Given the description of an element on the screen output the (x, y) to click on. 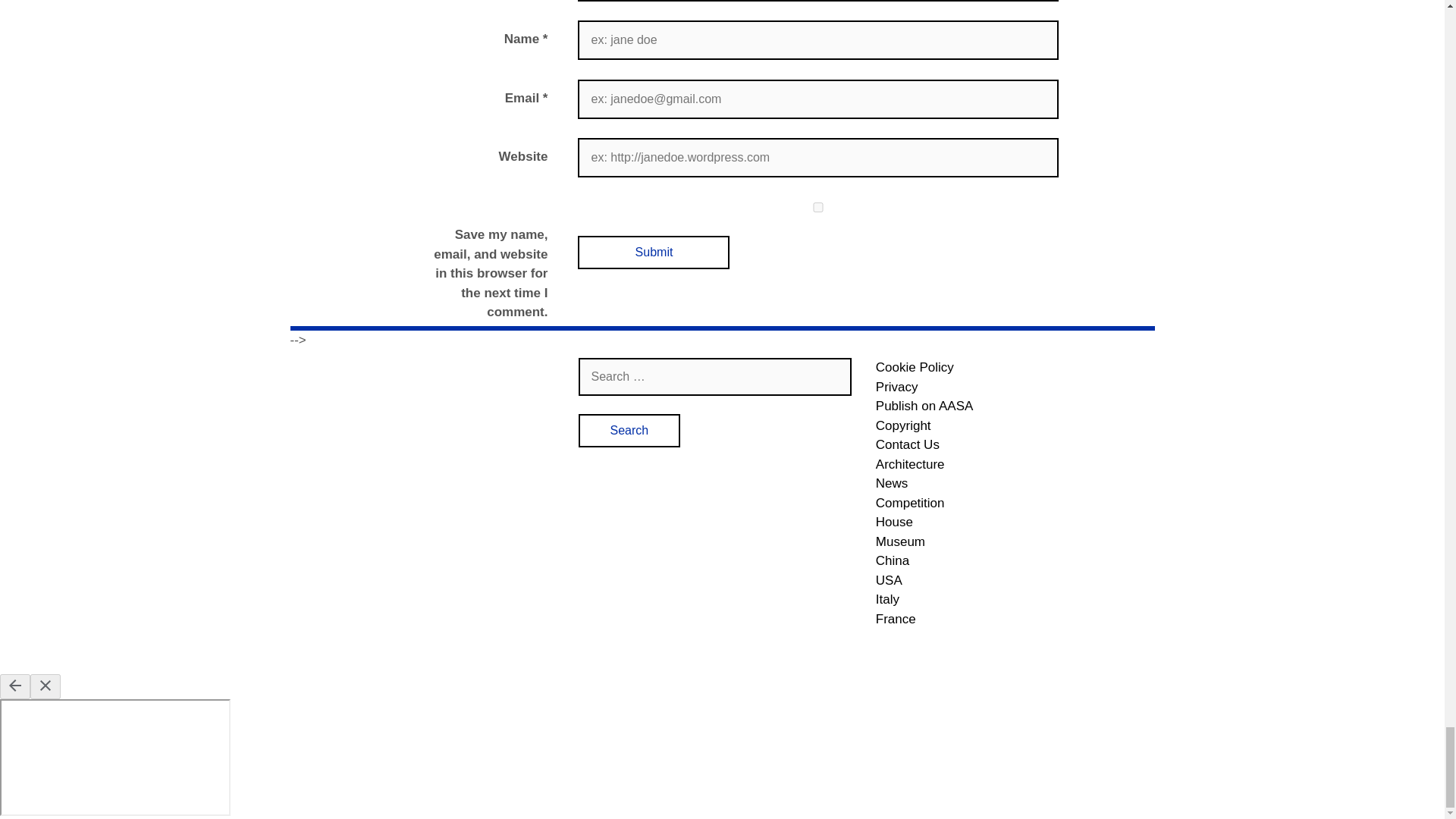
Search (629, 430)
Submit (653, 252)
yes (818, 207)
Search (629, 430)
